Given the description of an element on the screen output the (x, y) to click on. 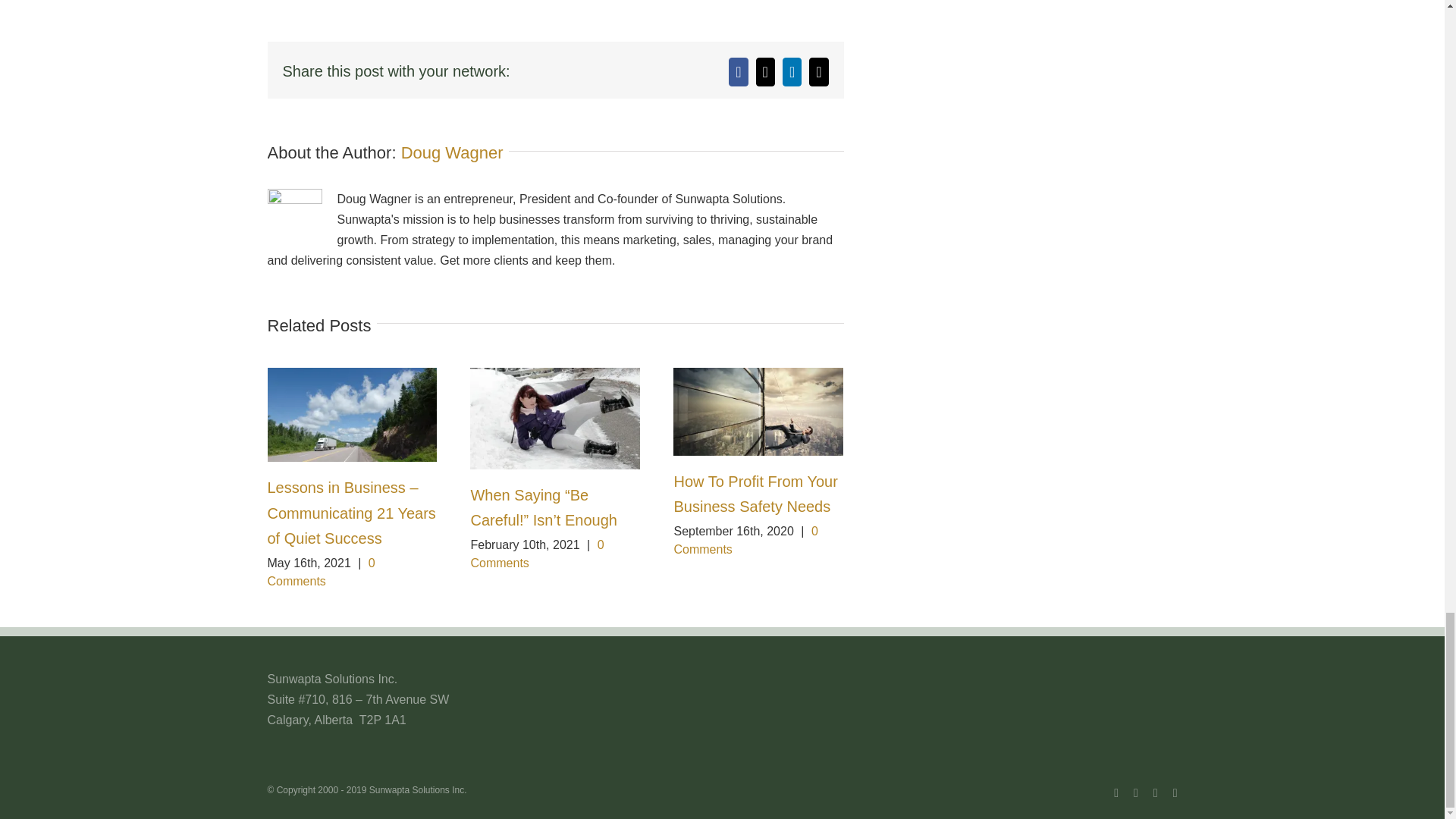
Doug Wagner (452, 152)
Posts by Doug Wagner (452, 152)
0 Comments (537, 553)
0 Comments (320, 572)
How To Profit From Your Business Safety Needs (754, 494)
